Given the description of an element on the screen output the (x, y) to click on. 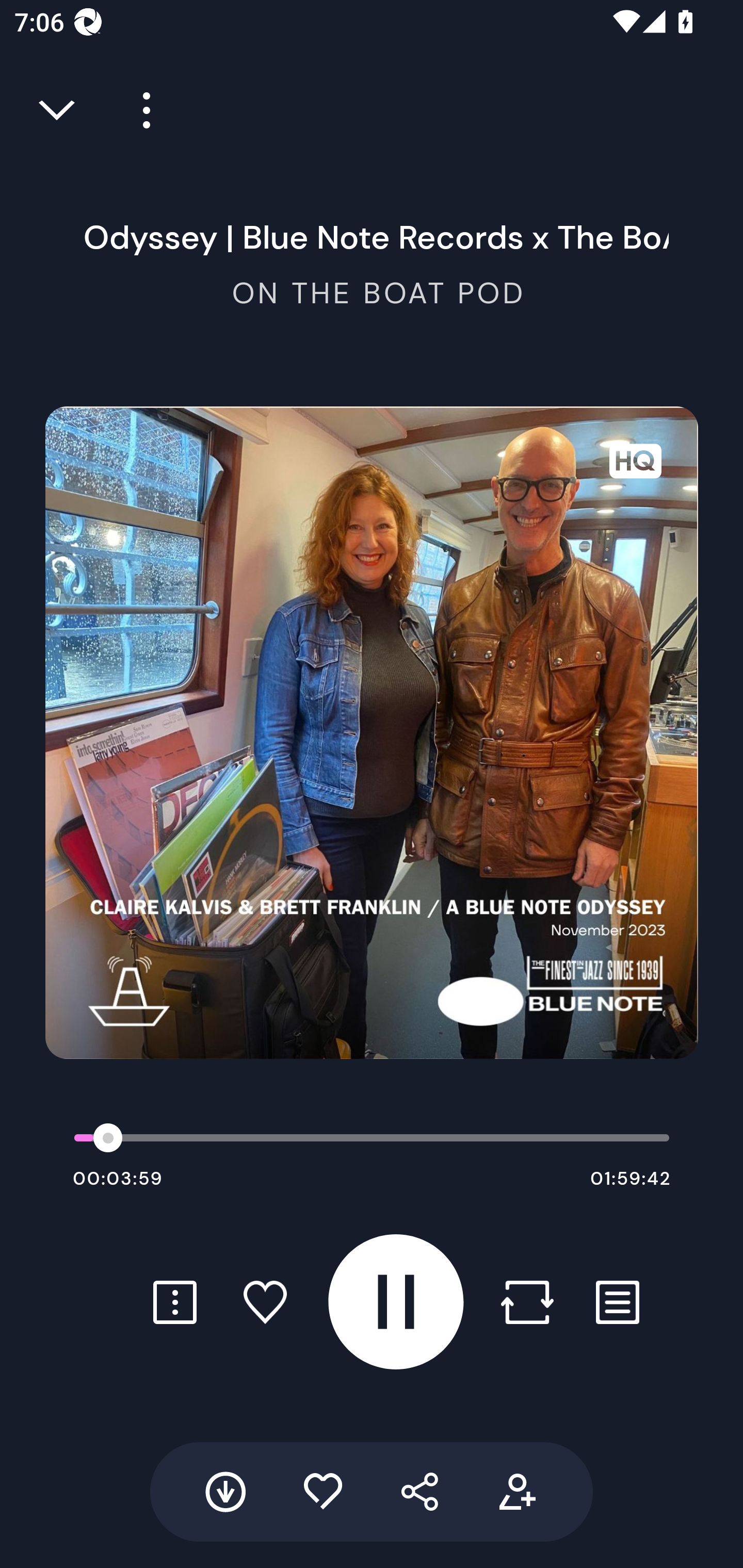
Close full player (58, 110)
Player more options button (139, 110)
Repost button (527, 1301)
